Given the description of an element on the screen output the (x, y) to click on. 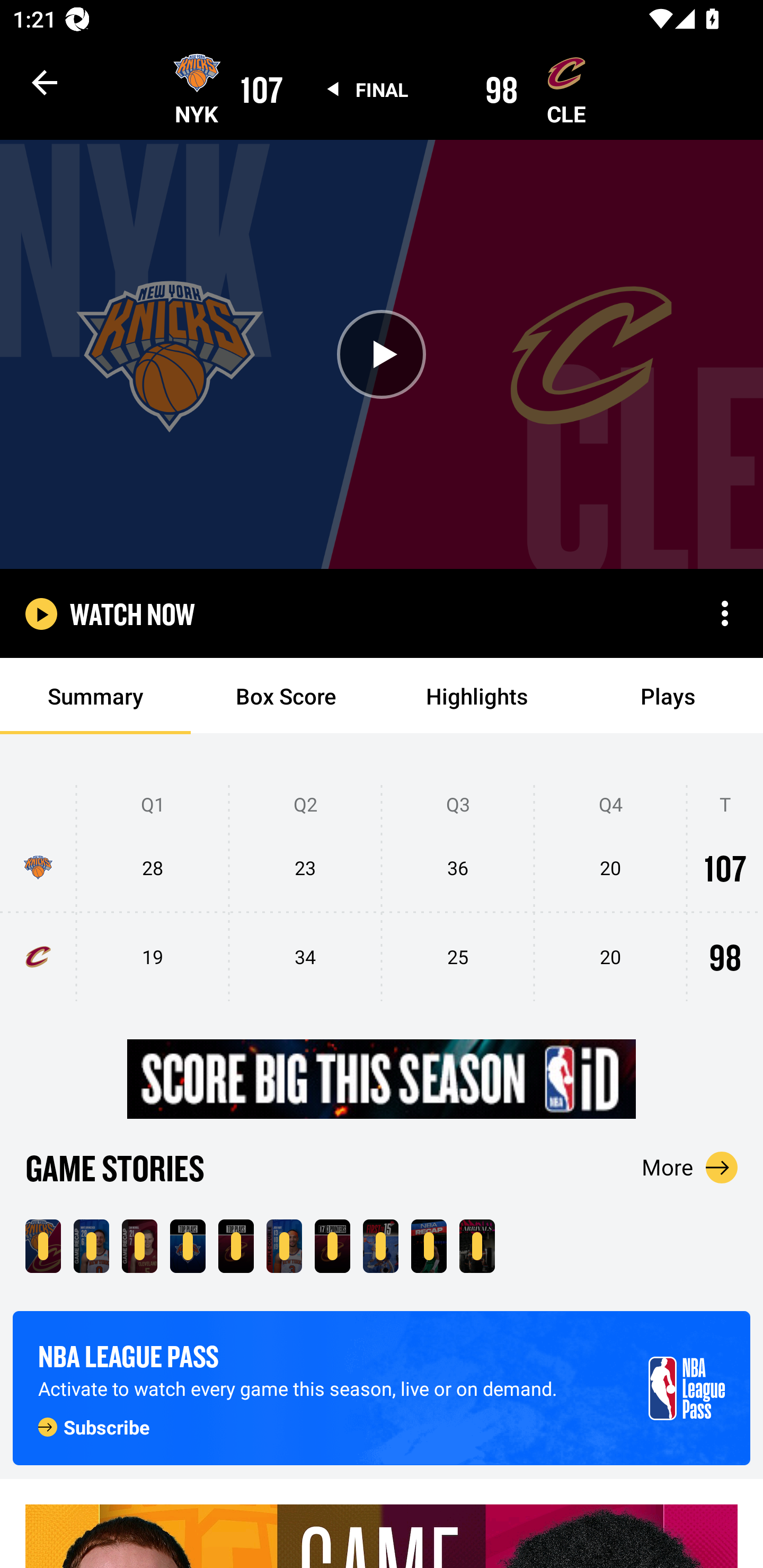
Navigate up (44, 82)
More options (724, 613)
WATCH NOW (132, 613)
Box Score (285, 695)
Highlights (476, 695)
Plays (667, 695)
Q1 Q2 Q3 Q4 T 28 23 36 20 107 19 34 25 20 98 (381, 893)
More (689, 1166)
NYK 107, CLE 98 - Mar 3 NEW (43, 1246)
Highlights From Sam Merrill's 21-Point Game NEW (139, 1246)
NYK's Top Plays from NYK vs. CLE NEW (187, 1246)
CLE's Top Plays from NYK vs. CLE NEW (236, 1246)
Highlights from Josh Hart's Triple-Double NEW (284, 1246)
All 3-pointers from CLE's 17 3-pointer Night NEW (332, 1246)
First To 15, Mar. 3rd NEW (380, 1246)
Sunday's Recap NEW (428, 1246)
Steppin' Into Sunday 🔥 NEW (477, 1246)
